Given the description of an element on the screen output the (x, y) to click on. 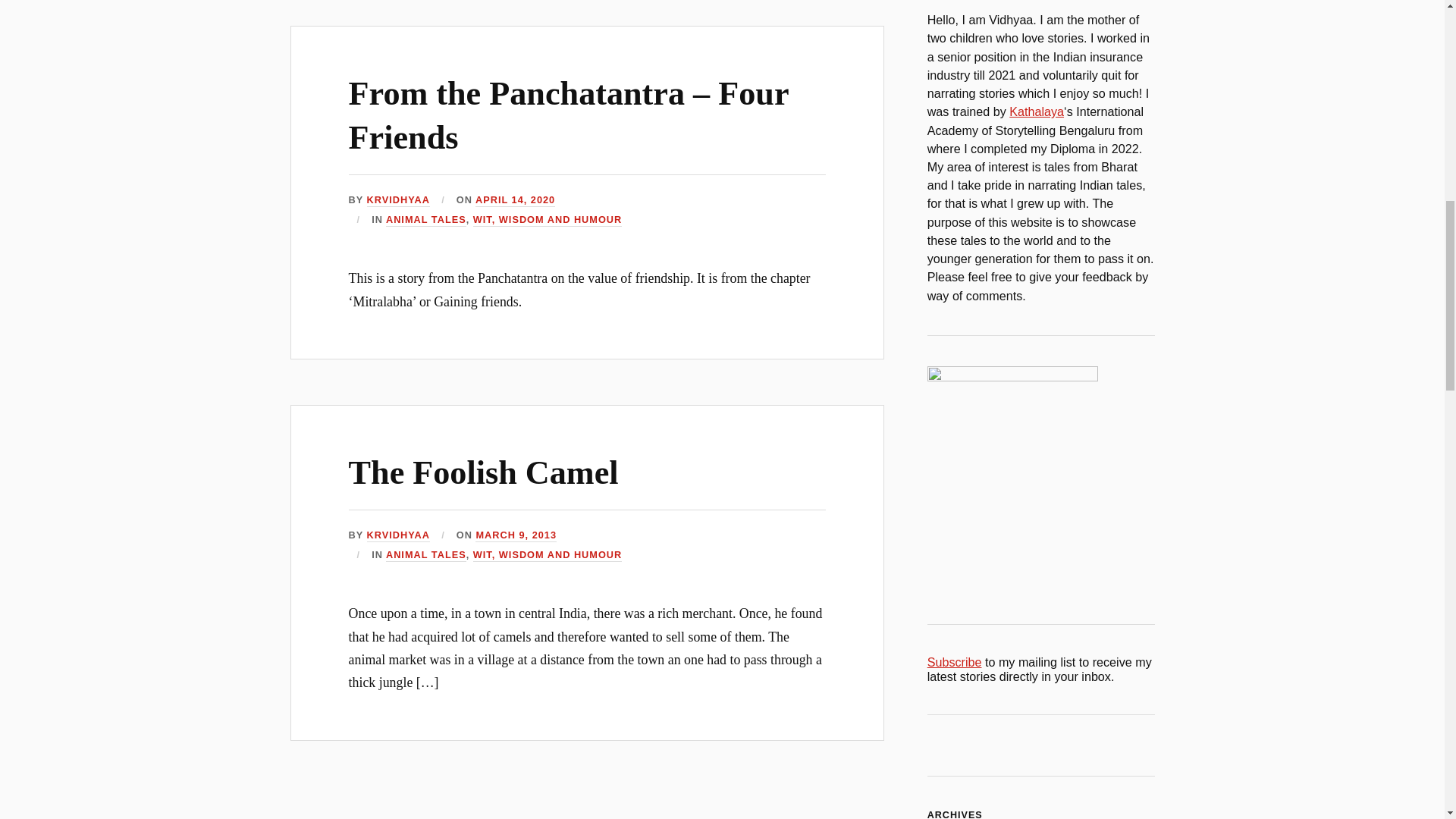
Subscribe (954, 662)
KRVIDHYAA (397, 535)
ANIMAL TALES (425, 554)
WIT, WISDOM AND HUMOUR (547, 554)
Posts by krvidhyaa (397, 535)
ANIMAL TALES (425, 219)
Posts by krvidhyaa (397, 200)
KRVIDHYAA (397, 200)
Kathalaya (1036, 110)
APRIL 14, 2020 (515, 200)
MARCH 9, 2013 (516, 535)
WIT, WISDOM AND HUMOUR (547, 219)
The Foolish Camel (483, 472)
